Given the description of an element on the screen output the (x, y) to click on. 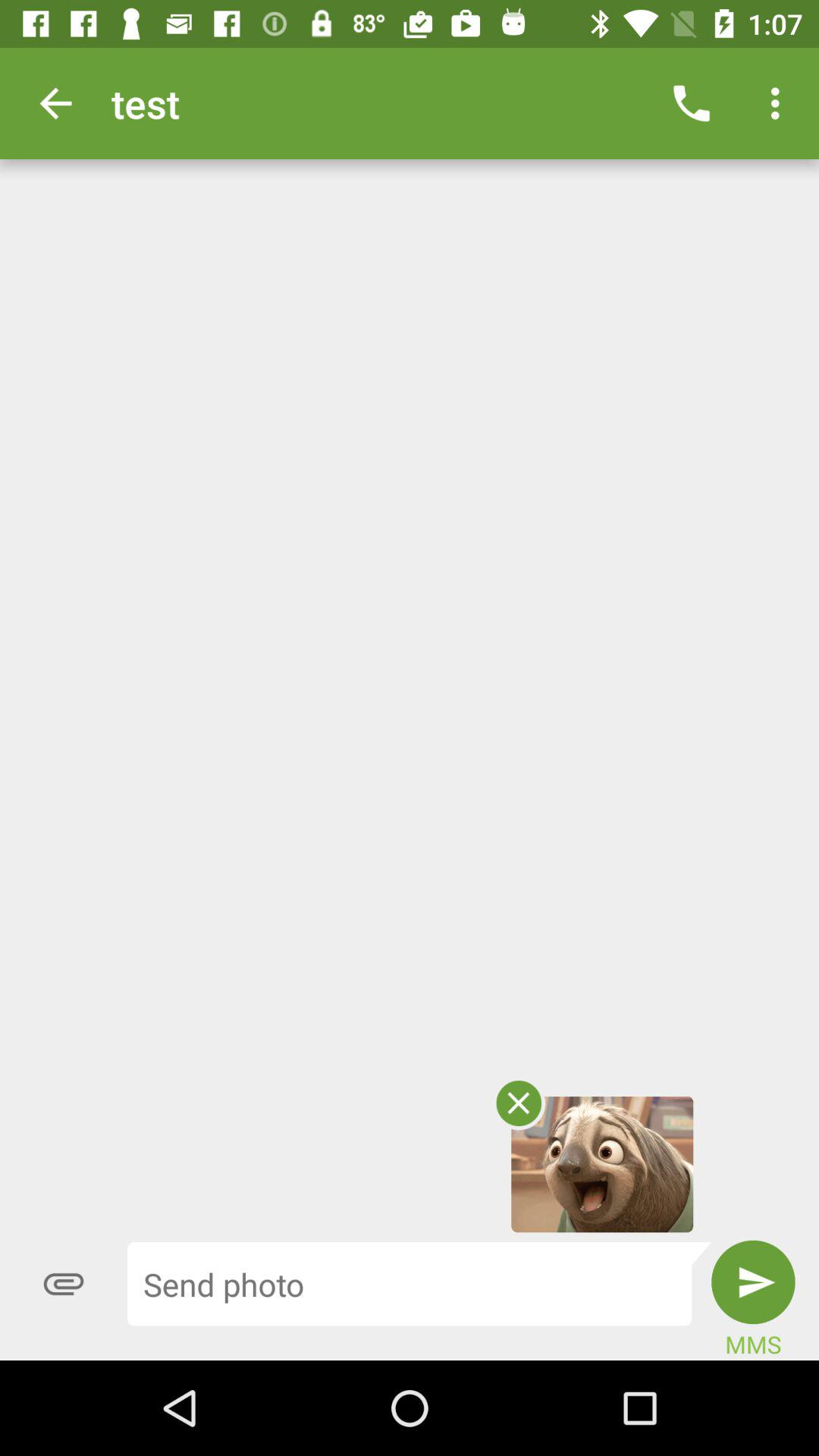
open icon at the top left corner (55, 103)
